Given the description of an element on the screen output the (x, y) to click on. 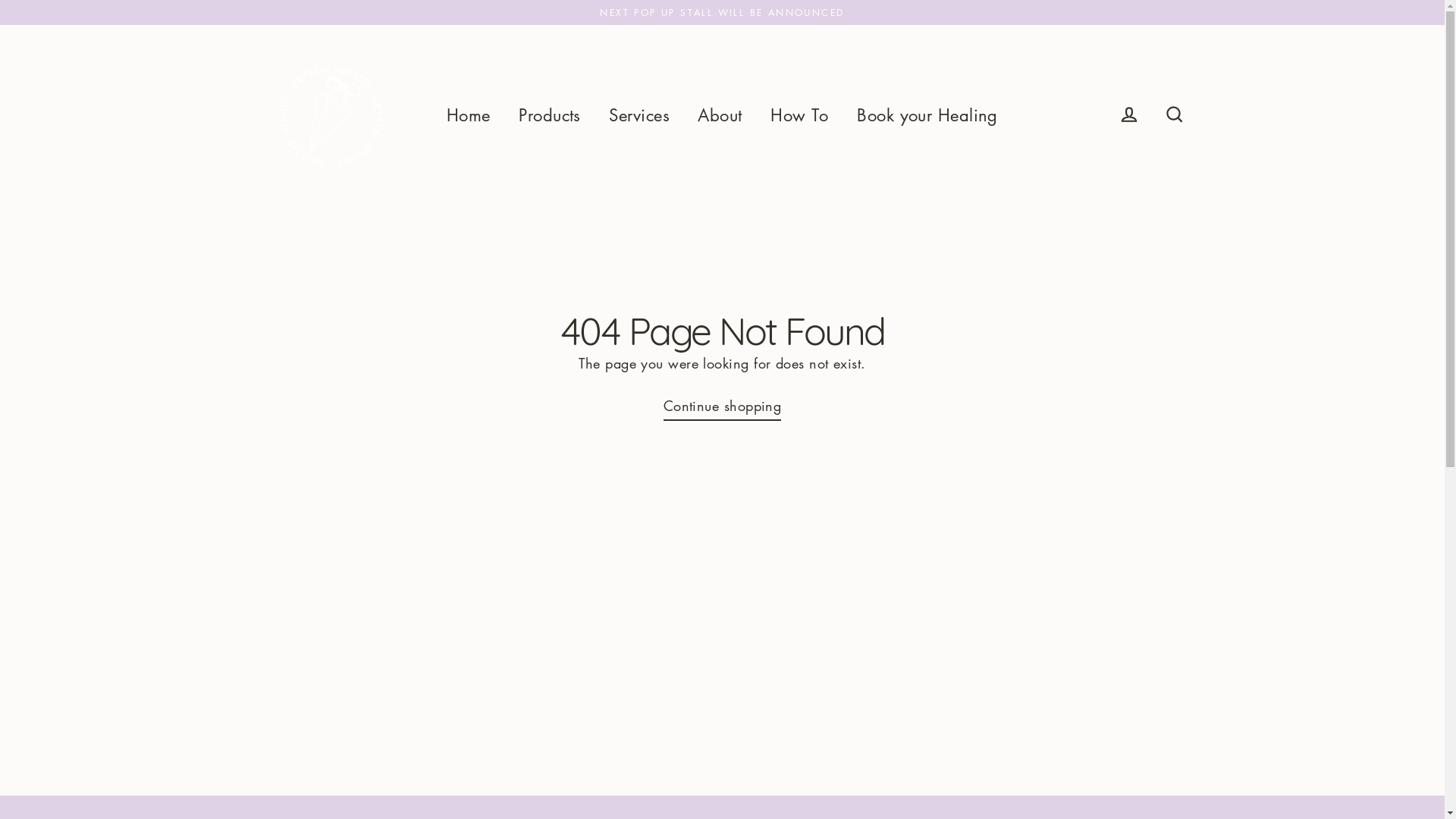
Book your Healing Element type: text (927, 114)
Products Element type: text (549, 114)
Skip to content Element type: text (0, 0)
Home Element type: text (468, 114)
How To Element type: text (799, 114)
Log in Element type: text (1128, 114)
Search Element type: text (1173, 114)
Continue shopping Element type: text (722, 407)
Services Element type: text (638, 114)
About Element type: text (719, 114)
